Given the description of an element on the screen output the (x, y) to click on. 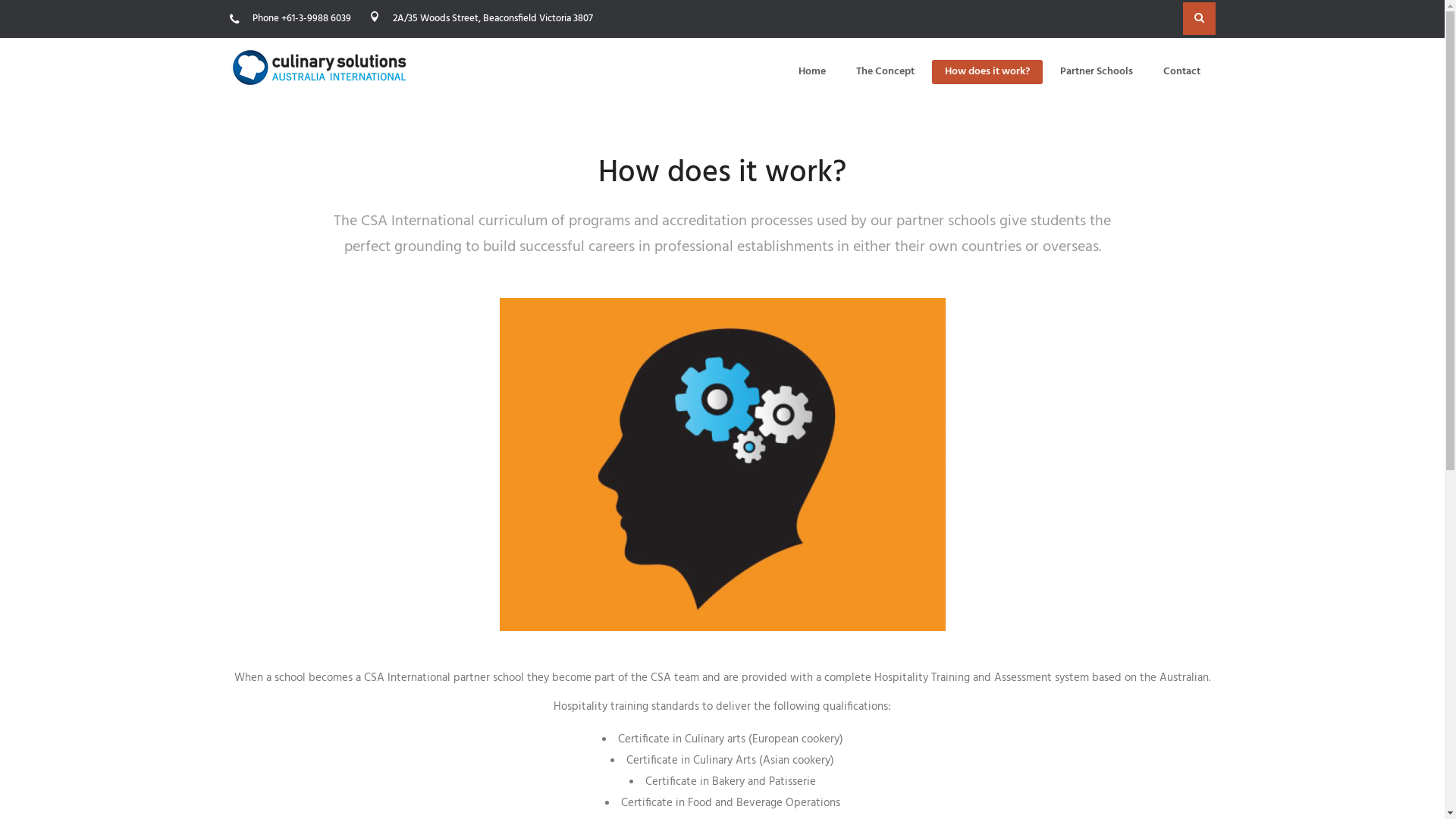
How does it work? Element type: text (986, 71)
Home Element type: text (811, 71)
image1 Element type: hover (721, 464)
Partner Schools Element type: text (1096, 71)
The Concept Element type: text (884, 71)
Contact Element type: text (1181, 71)
